Given the description of an element on the screen output the (x, y) to click on. 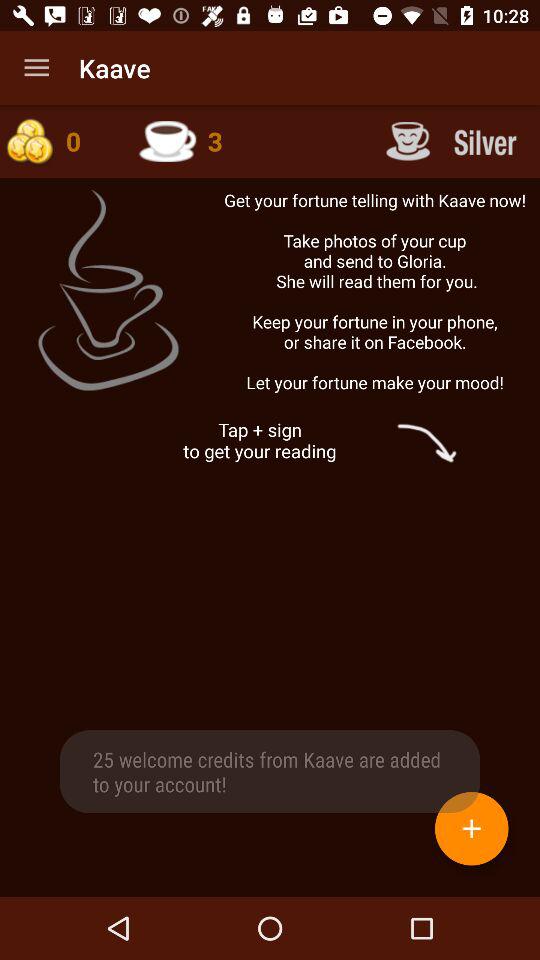
view coin currency (59, 141)
